Given the description of an element on the screen output the (x, y) to click on. 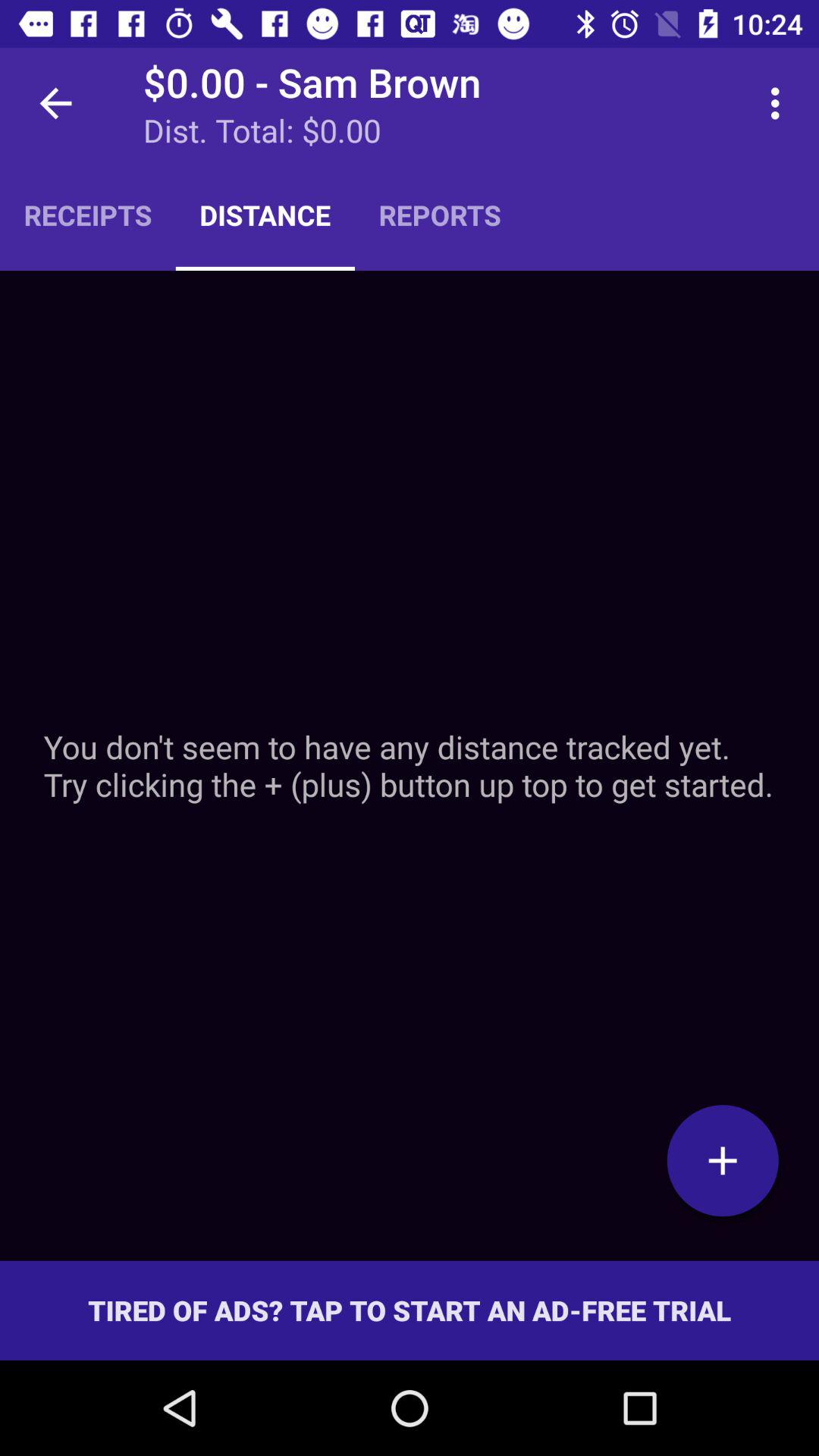
create a distance to track (722, 1160)
